Given the description of an element on the screen output the (x, y) to click on. 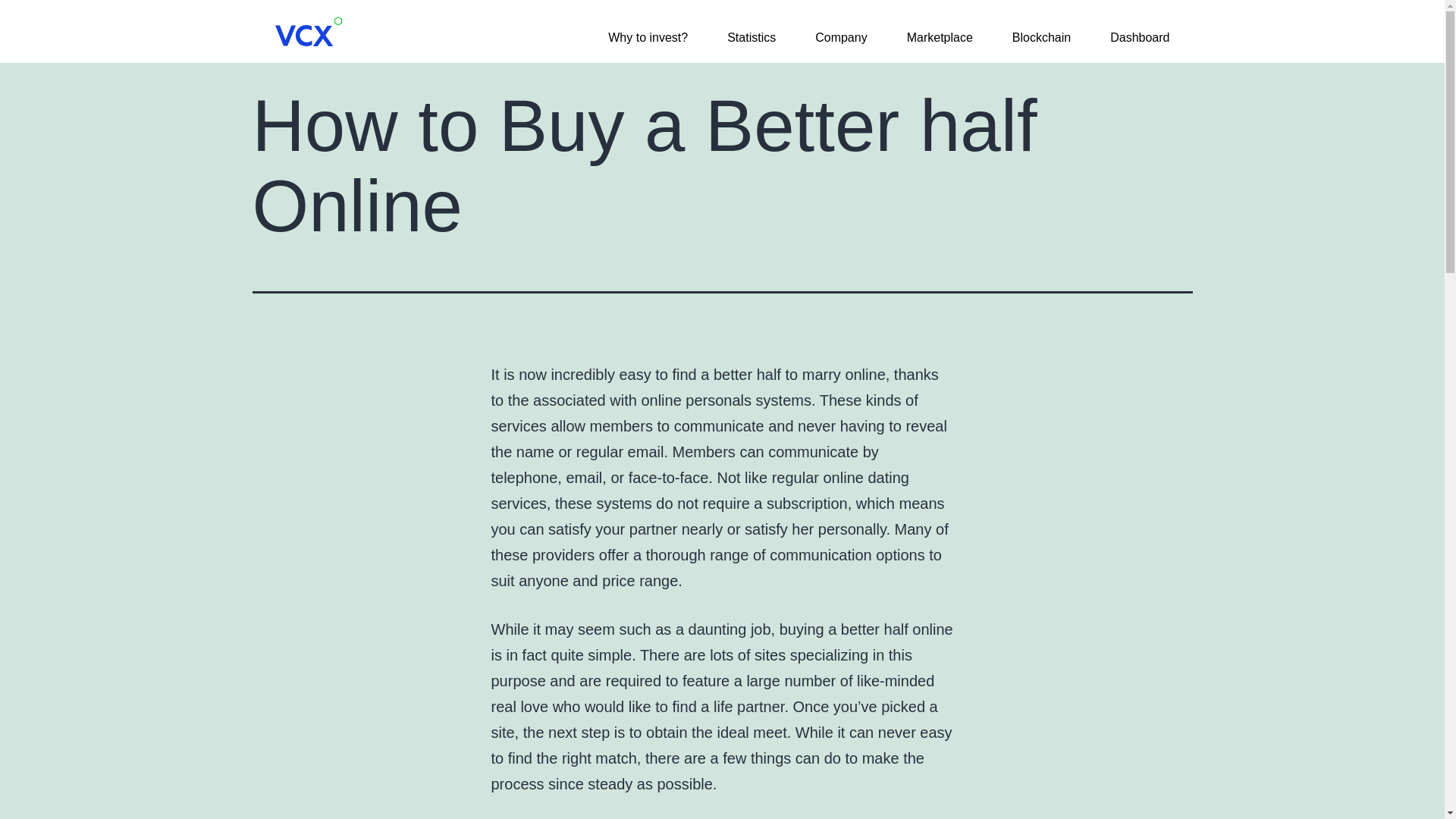
Marketplace (939, 37)
Why to invest? (647, 37)
Statistics (751, 37)
Dashboard (1139, 37)
Company (840, 37)
Blockchain (1040, 37)
